Given the description of an element on the screen output the (x, y) to click on. 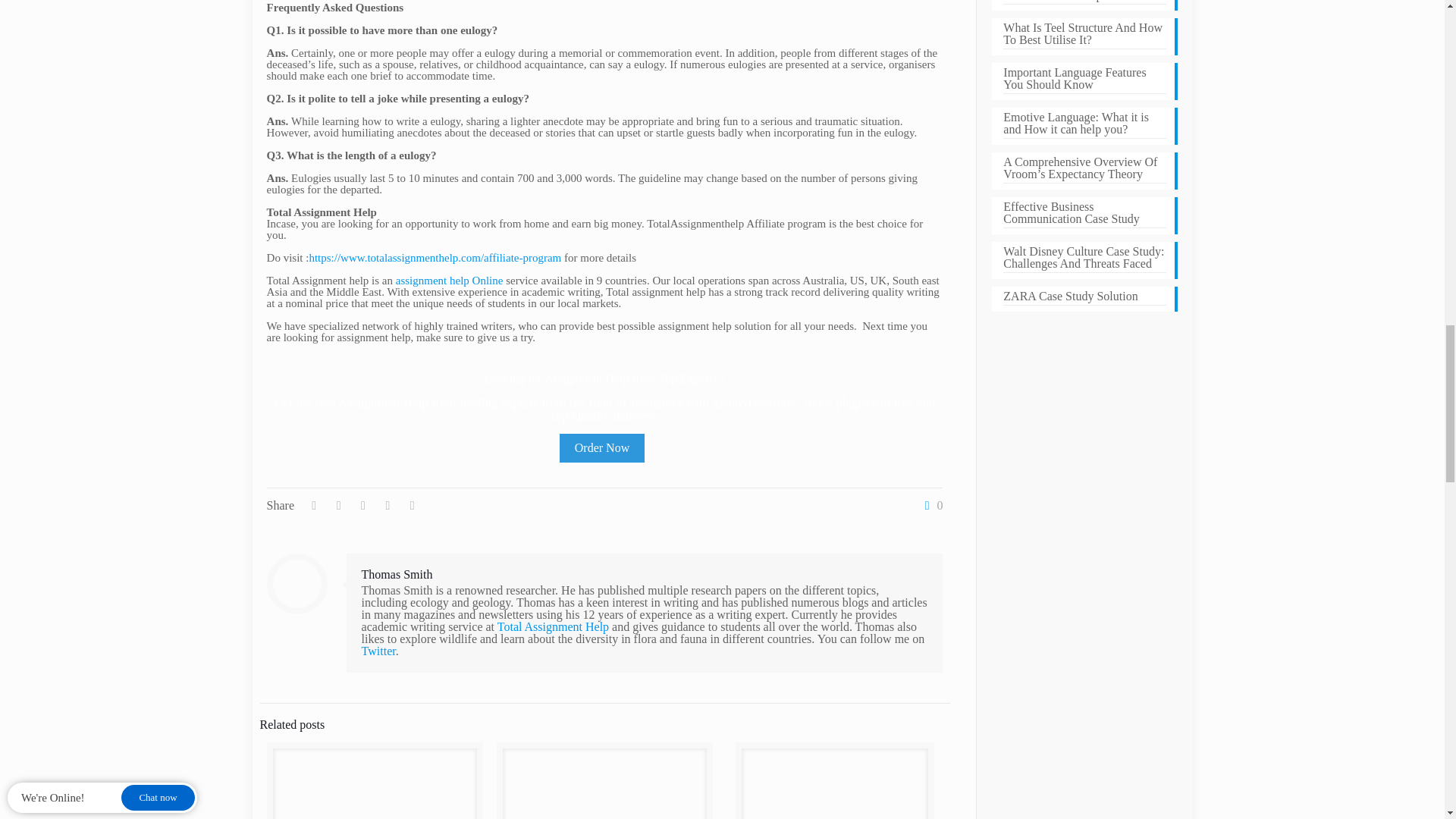
Total Assignment Help (552, 626)
Thomas Smith (396, 574)
0 (930, 505)
Twitter (378, 650)
Order Now (602, 448)
assignment help Online (449, 280)
